Given the description of an element on the screen output the (x, y) to click on. 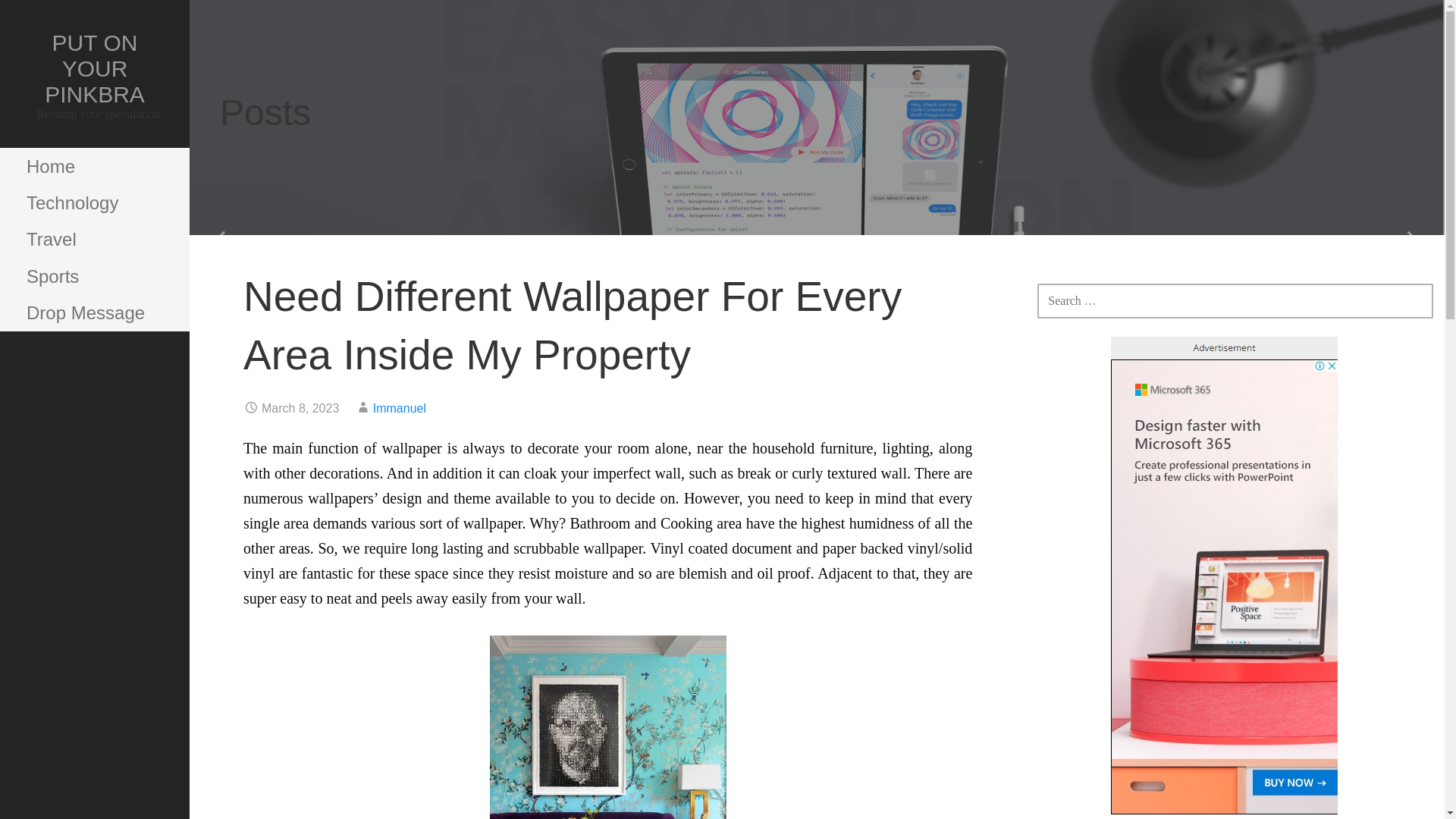
PUT ON YOUR PINKBRA (94, 68)
Technology (94, 203)
Travel (94, 239)
Immanuel (399, 408)
Sports (94, 276)
Home (94, 166)
Drop Message (94, 312)
Posts by Immanuel (399, 408)
Search (50, 18)
